Given the description of an element on the screen output the (x, y) to click on. 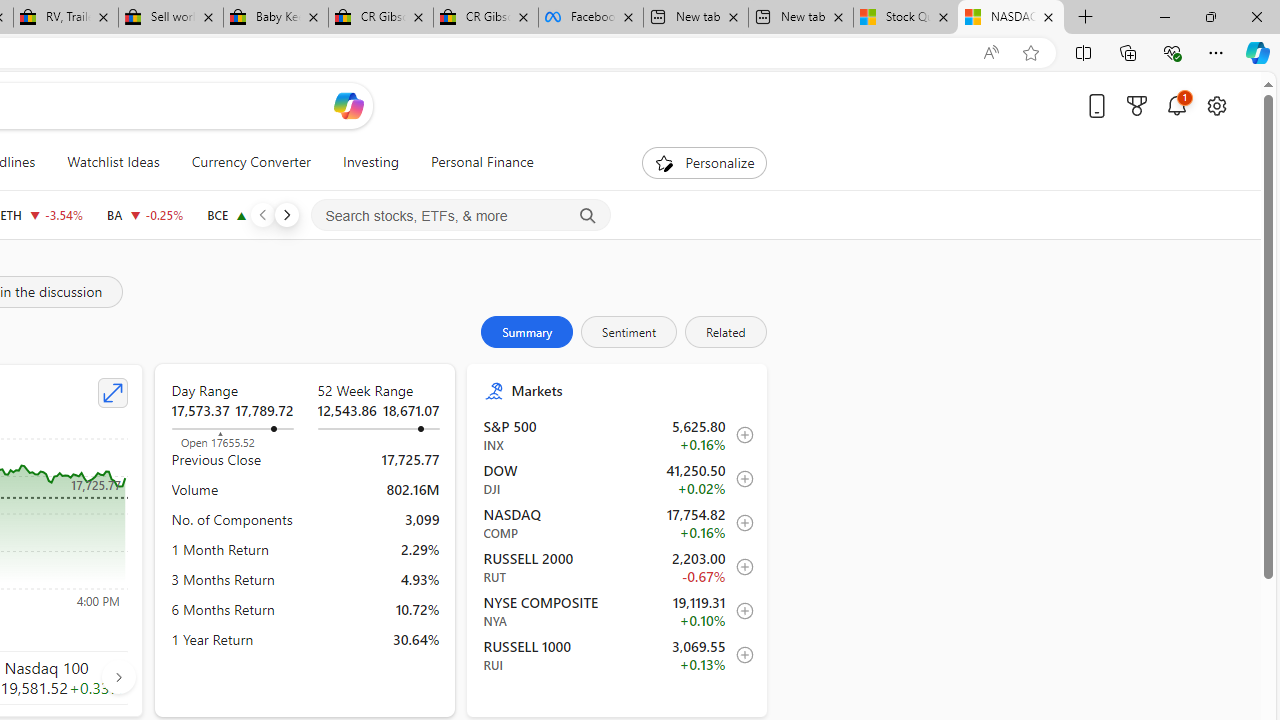
AutomationID: finance_carousel_navi_arrow (118, 676)
Open Copilot (347, 105)
Watchlist Ideas (113, 162)
Previous (262, 214)
Facebook (590, 17)
Summary (527, 331)
Next (286, 214)
Currency Converter (250, 162)
AutomationID: finance_carousel_navi_right (118, 677)
Personal Finance (473, 162)
